Given the description of an element on the screen output the (x, y) to click on. 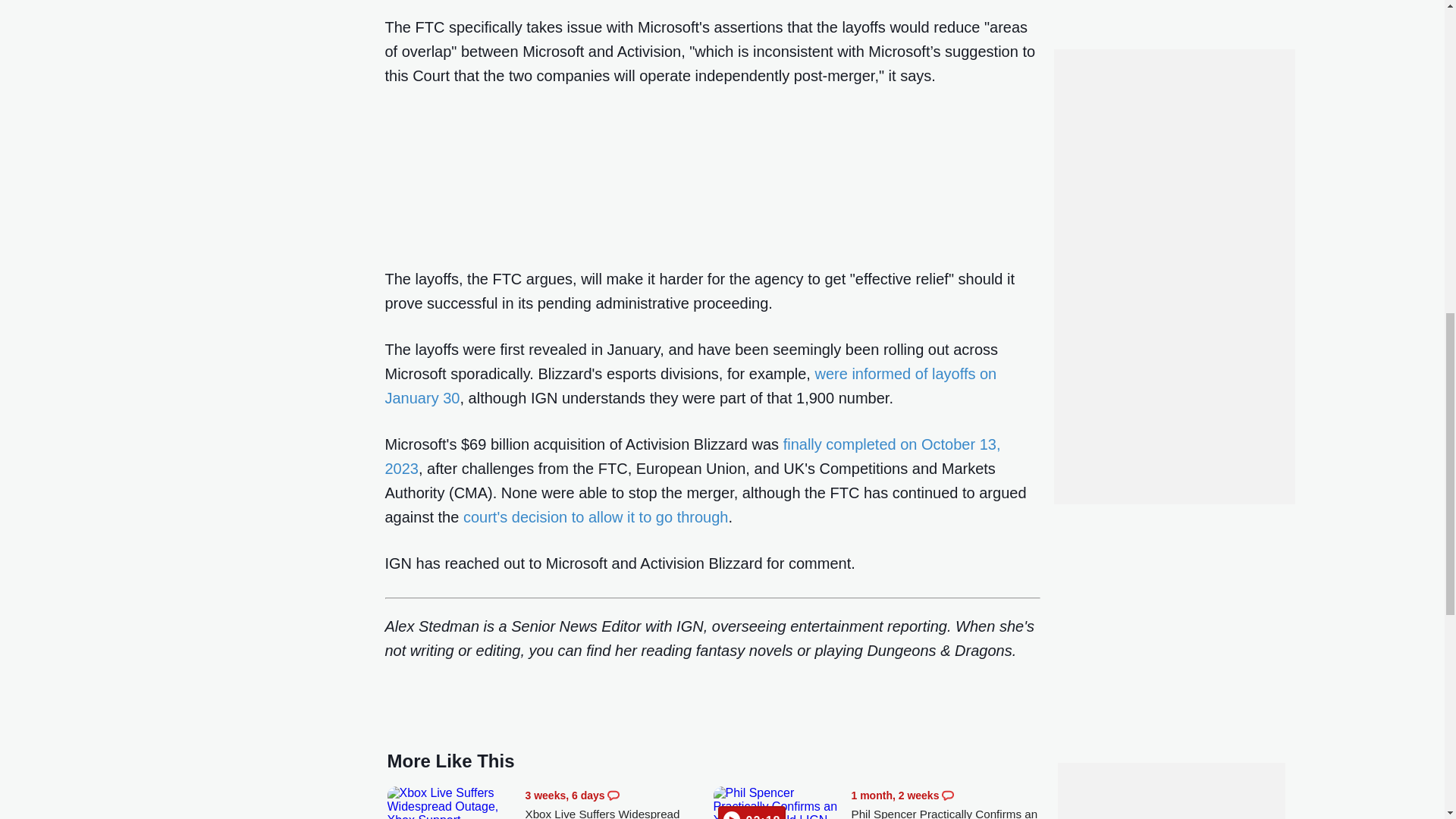
Comments (947, 795)
Comments (613, 795)
were informed of layoffs on January 30 (691, 385)
finally completed on October 13, 2023 (693, 455)
